Given the description of an element on the screen output the (x, y) to click on. 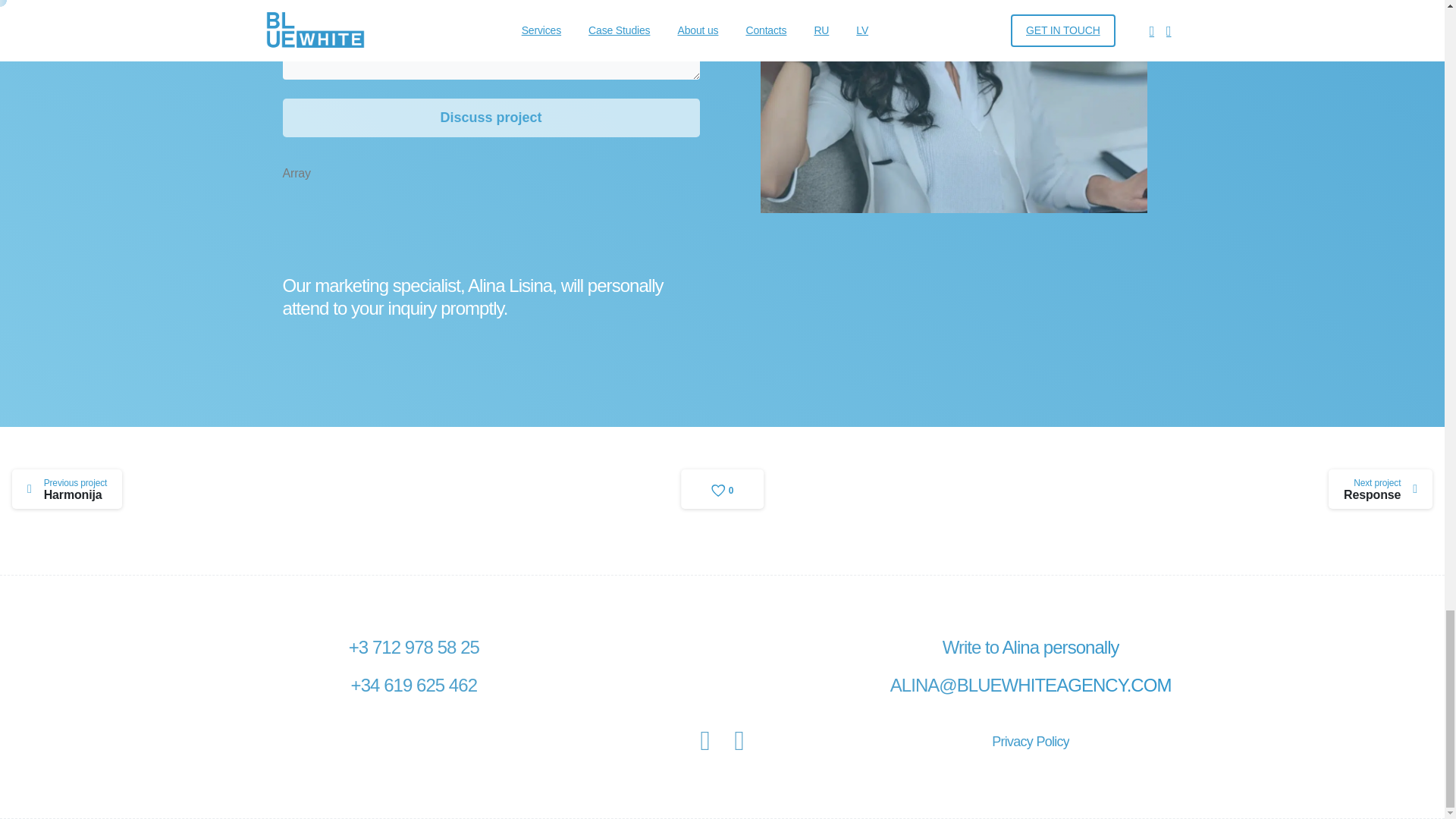
Like this (722, 488)
Discuss project (490, 117)
reCAPTCHA (66, 488)
0 (397, 221)
Privacy Policy (722, 488)
Discuss project (1029, 741)
